Given the description of an element on the screen output the (x, y) to click on. 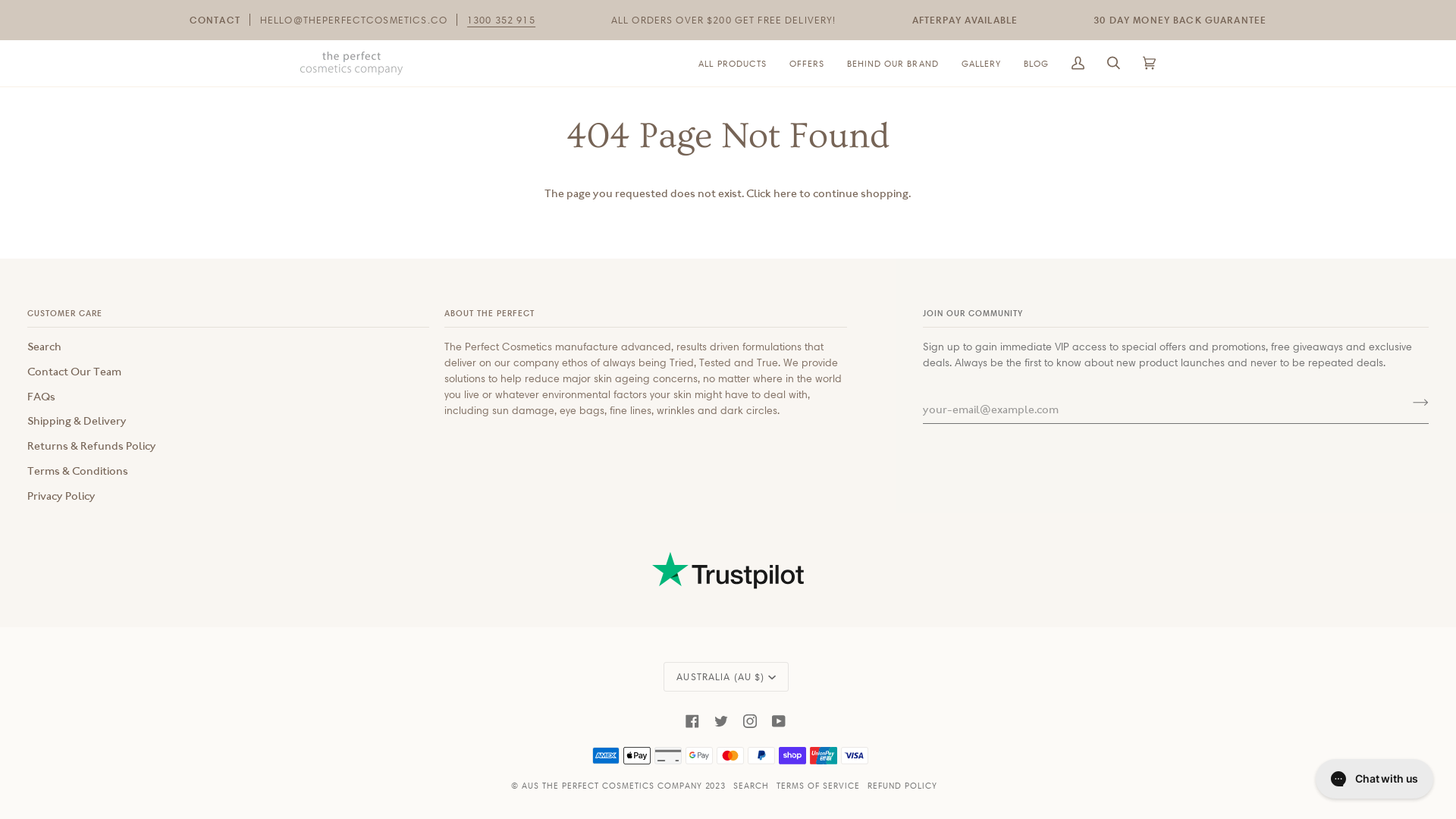
YOUTUBE Element type: text (778, 721)
Gorgias live chat messenger Element type: hover (1374, 778)
FAQs Element type: text (41, 396)
Shipping & Delivery Element type: text (76, 420)
SEARCH Element type: text (750, 784)
INSTAGRAM Element type: text (749, 721)
Privacy Policy Element type: text (61, 495)
1300 352 915 Element type: text (501, 19)
BLOG Element type: text (1036, 63)
REFUND POLICY Element type: text (902, 784)
AUS THE PERFECT COSMETICS COMPANY Element type: text (611, 784)
ALL PRODUCTS Element type: text (732, 63)
TERMS OF SERVICE Element type: text (817, 784)
TWITTER Element type: text (721, 721)
OFFERS Element type: text (806, 63)
Search Element type: text (44, 346)
Search Element type: text (1113, 63)
Terms & Conditions Element type: text (77, 470)
here Element type: text (785, 193)
My Account Element type: text (1077, 63)
Cart
(0) Element type: text (1149, 63)
GALLERY Element type: text (981, 63)
BEHIND OUR BRAND Element type: text (892, 63)
FACEBOOK Element type: text (692, 721)
AUSTRALIA (AU $) Element type: text (725, 676)
Returns & Refunds Policy Element type: text (91, 445)
Contact Our Team Element type: text (74, 371)
